Given the description of an element on the screen output the (x, y) to click on. 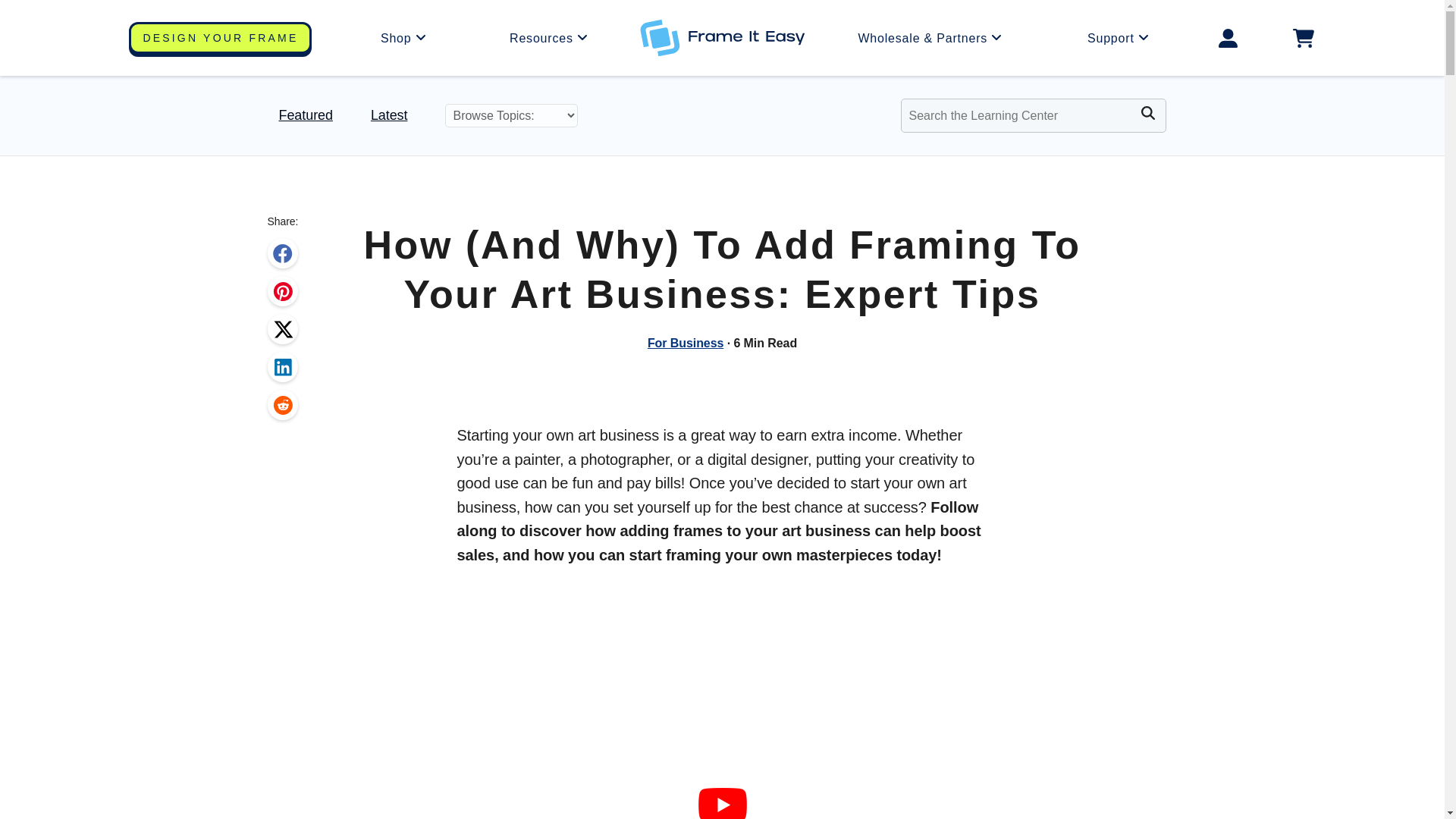
Cart (1303, 37)
DESIGN YOUR FRAME (220, 38)
